Given the description of an element on the screen output the (x, y) to click on. 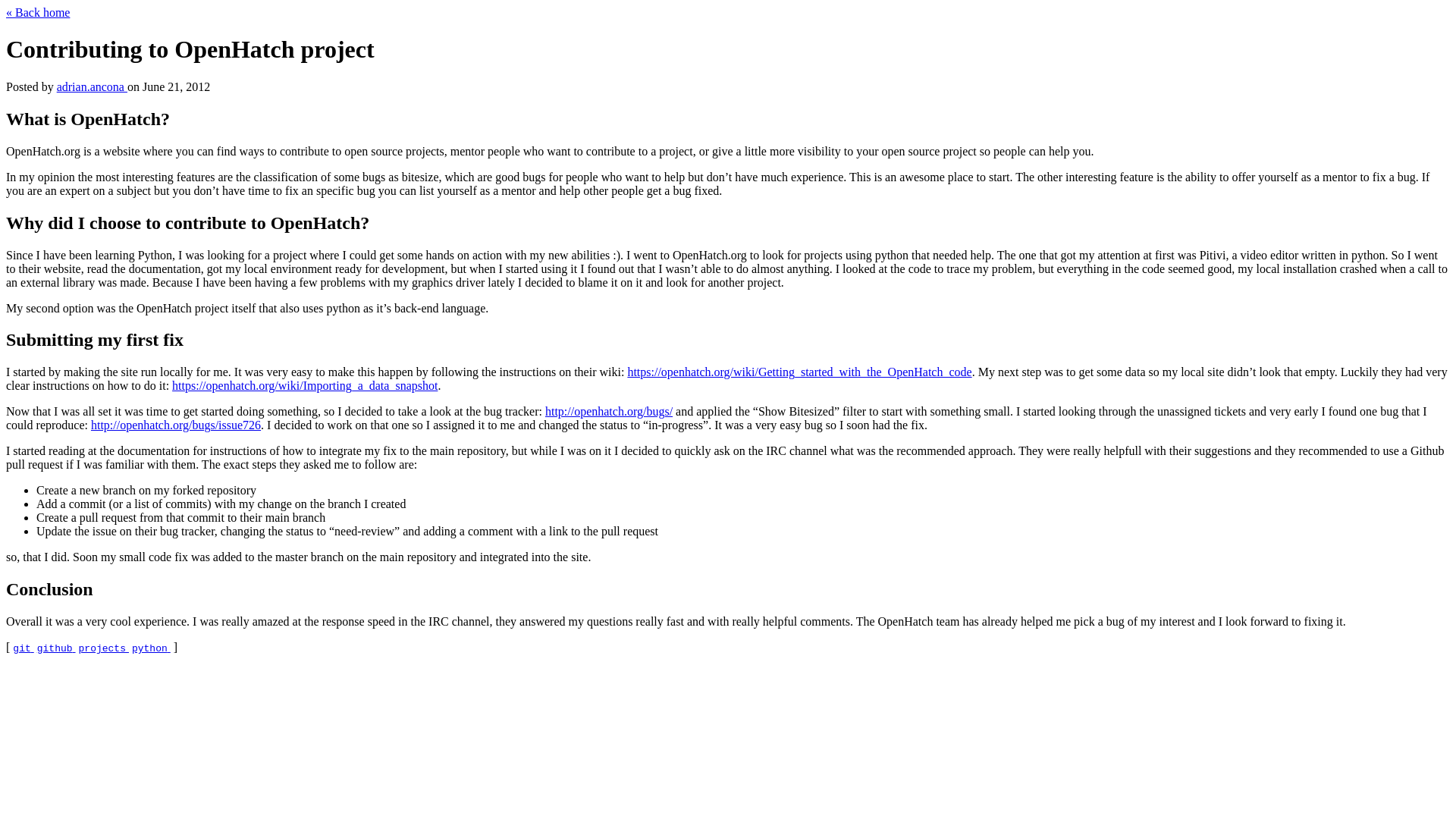
OpenHatch bug tracker (608, 410)
OpenHatch tar mission bug (175, 424)
Importing data - OpenHatch (304, 385)
OpenHatch wiki (799, 371)
adrian.ancona (92, 86)
